Given the description of an element on the screen output the (x, y) to click on. 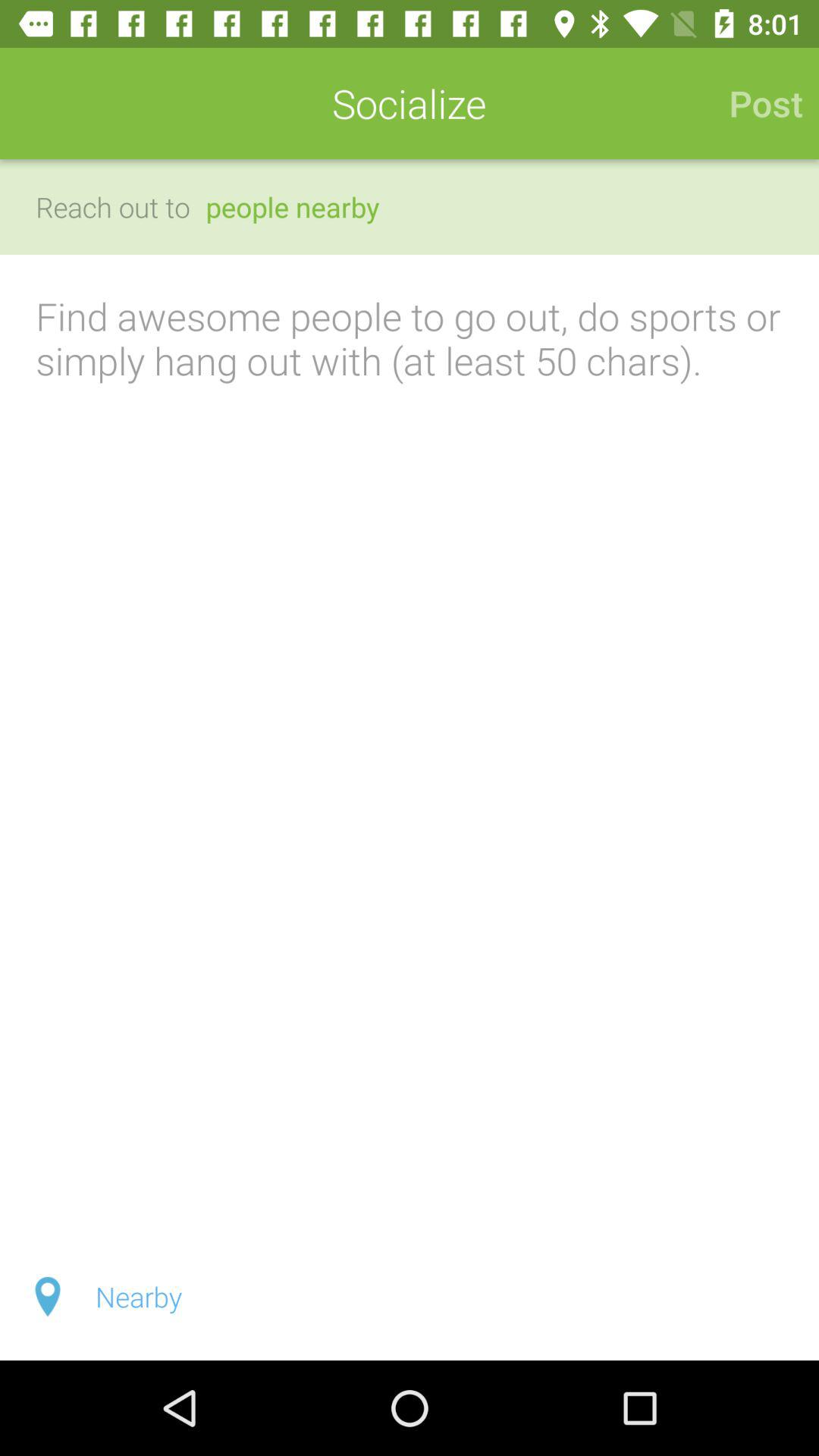
write a note (409, 743)
